Given the description of an element on the screen output the (x, y) to click on. 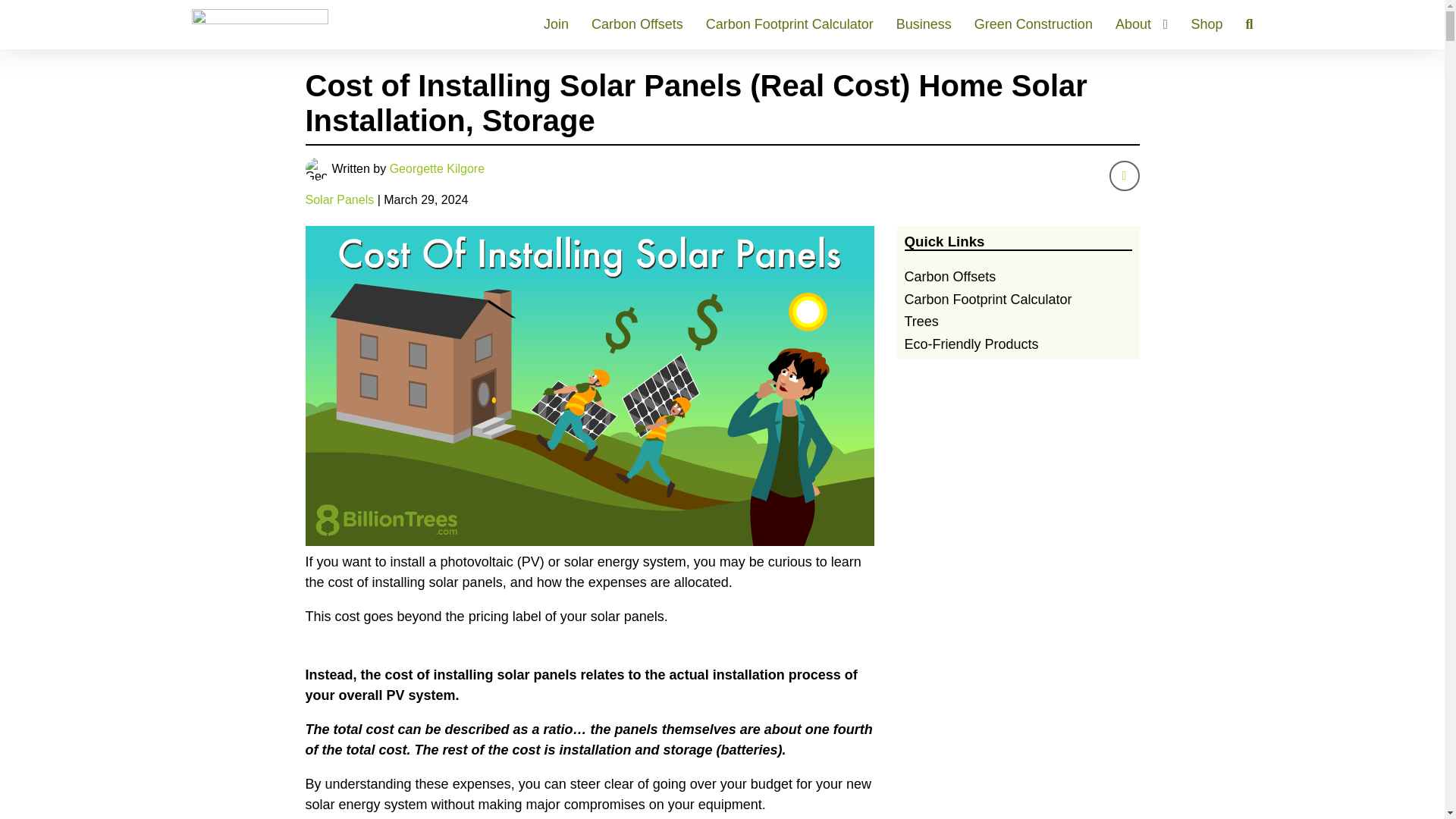
Solar Panels (339, 199)
Carbon Offsets (636, 24)
Georgette Kilgore (437, 168)
Business (924, 24)
About (1142, 24)
Green Construction (1033, 24)
Shop (1207, 24)
Carbon Footprint Calculator (789, 24)
